Given the description of an element on the screen output the (x, y) to click on. 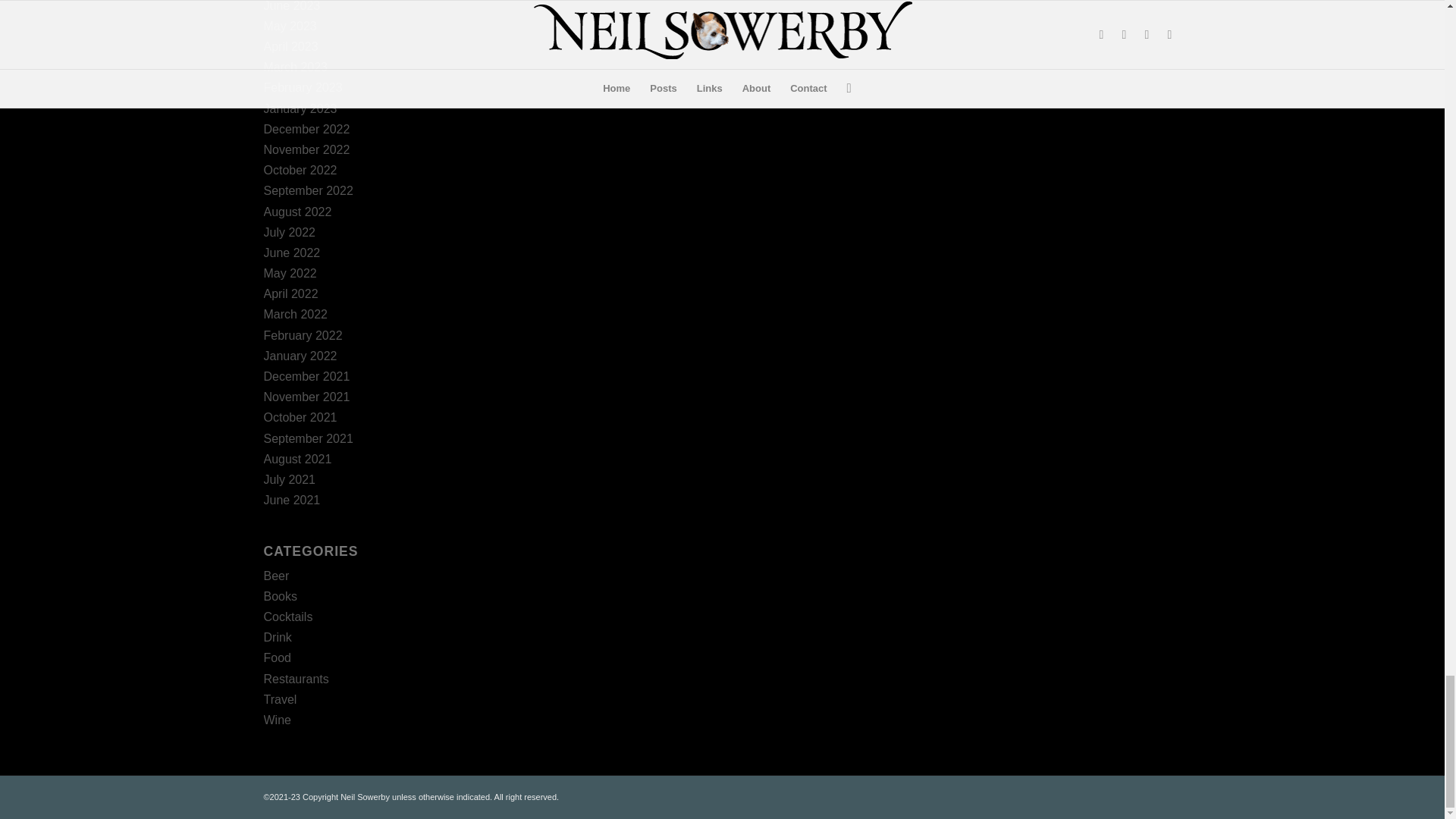
April 2023 (290, 46)
June 2023 (291, 6)
May 2023 (290, 25)
